Given the description of an element on the screen output the (x, y) to click on. 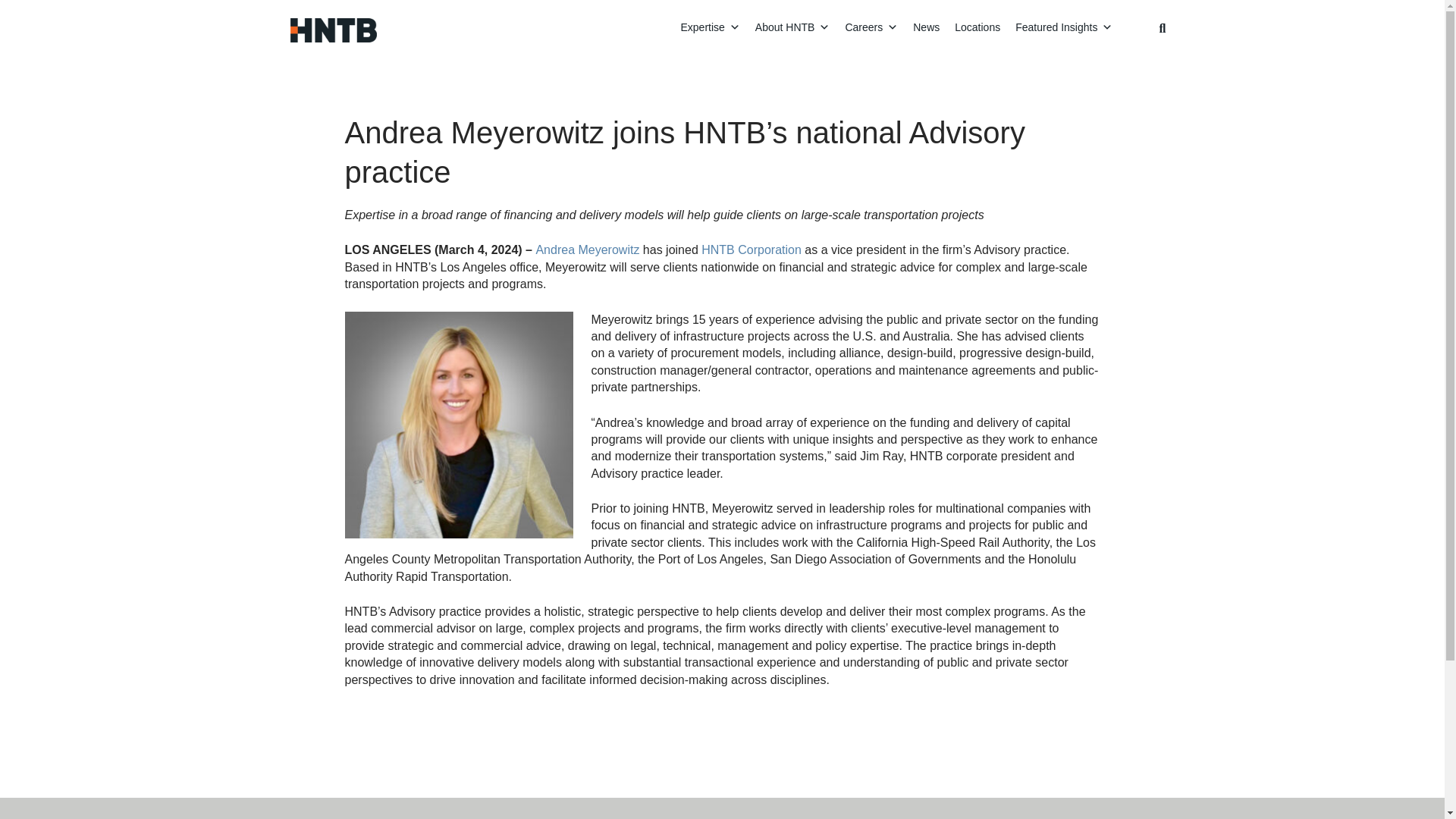
Skip to content (1063, 37)
Locations (977, 29)
Featured Insights (1063, 29)
About HNTB (793, 29)
Careers (871, 29)
Expertise (710, 29)
